Given the description of an element on the screen output the (x, y) to click on. 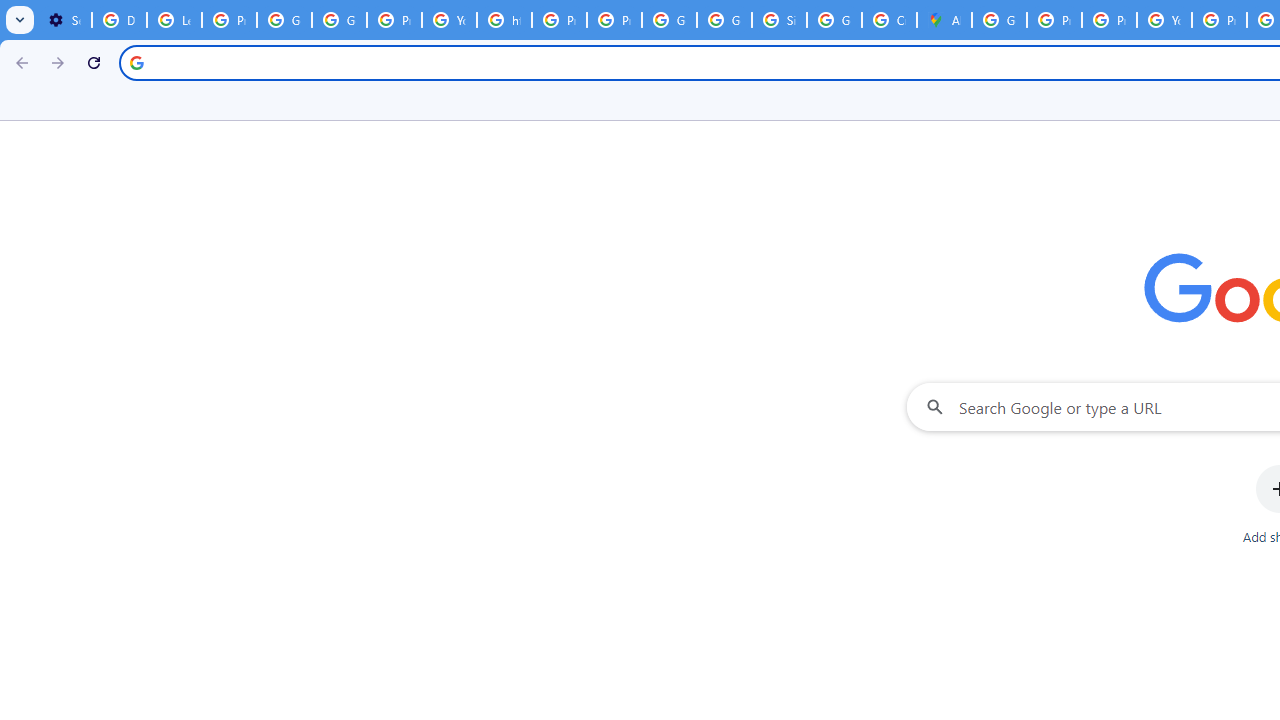
Sign in - Google Accounts (779, 20)
Delete photos & videos - Computer - Google Photos Help (119, 20)
YouTube (449, 20)
Create your Google Account (888, 20)
Privacy Help Center - Policies Help (1053, 20)
YouTube (1163, 20)
